Given the description of an element on the screen output the (x, y) to click on. 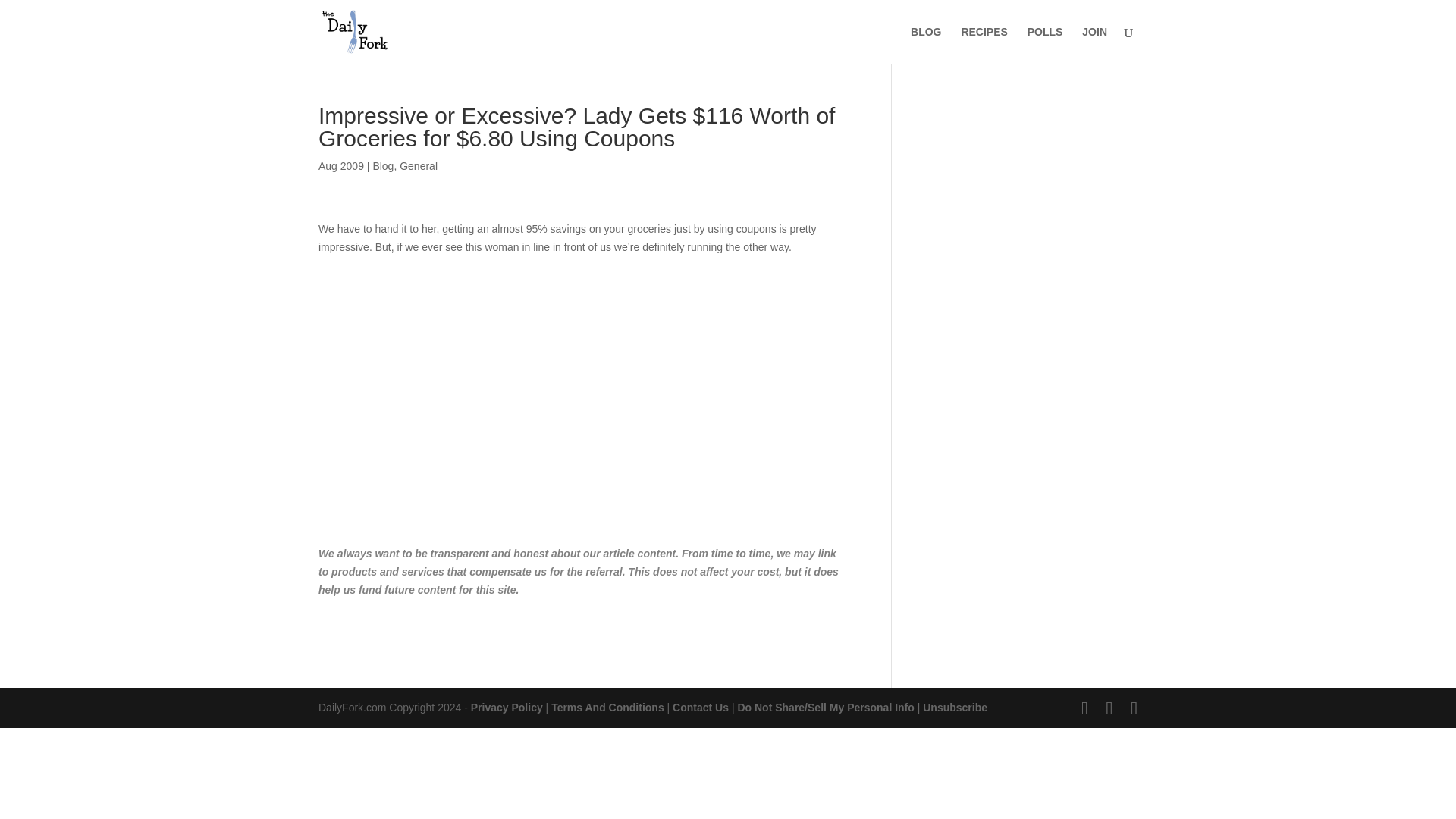
RECIPES (983, 44)
Contact Us (700, 707)
Blog (382, 165)
Unsubscribe (955, 707)
Privacy Policy (506, 707)
POLLS (1044, 44)
Terms And Conditions (607, 707)
General (418, 165)
